Given the description of an element on the screen output the (x, y) to click on. 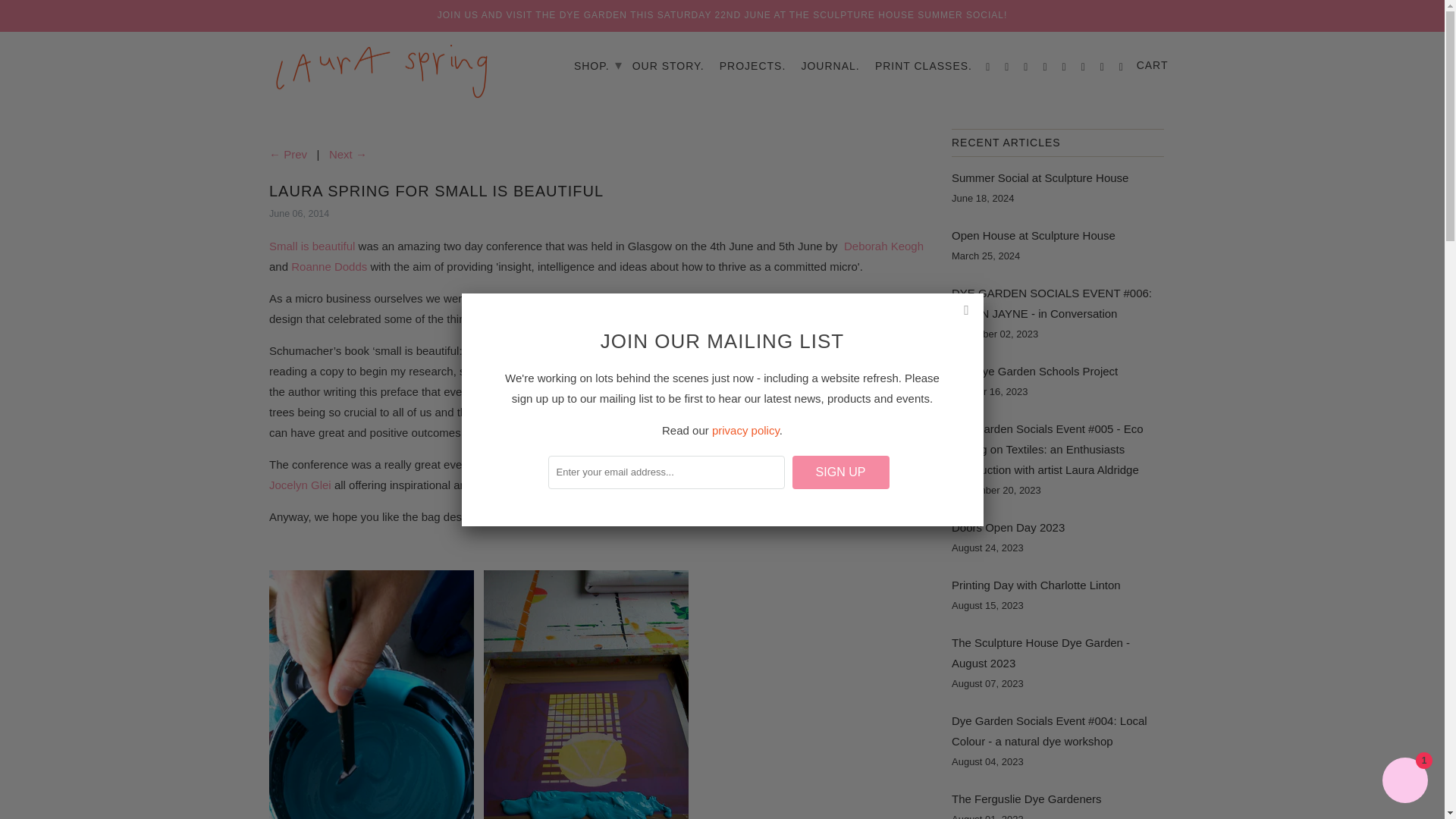
Neil Maguire (859, 463)
Roanne Dodds (328, 266)
Next Article (347, 154)
Jocelyn Glei (301, 484)
Small is Beautiful conference (312, 245)
Previous Article (288, 154)
The Design trust (778, 463)
Deborah Keogh (883, 245)
Sign Up (840, 471)
